Given the description of an element on the screen output the (x, y) to click on. 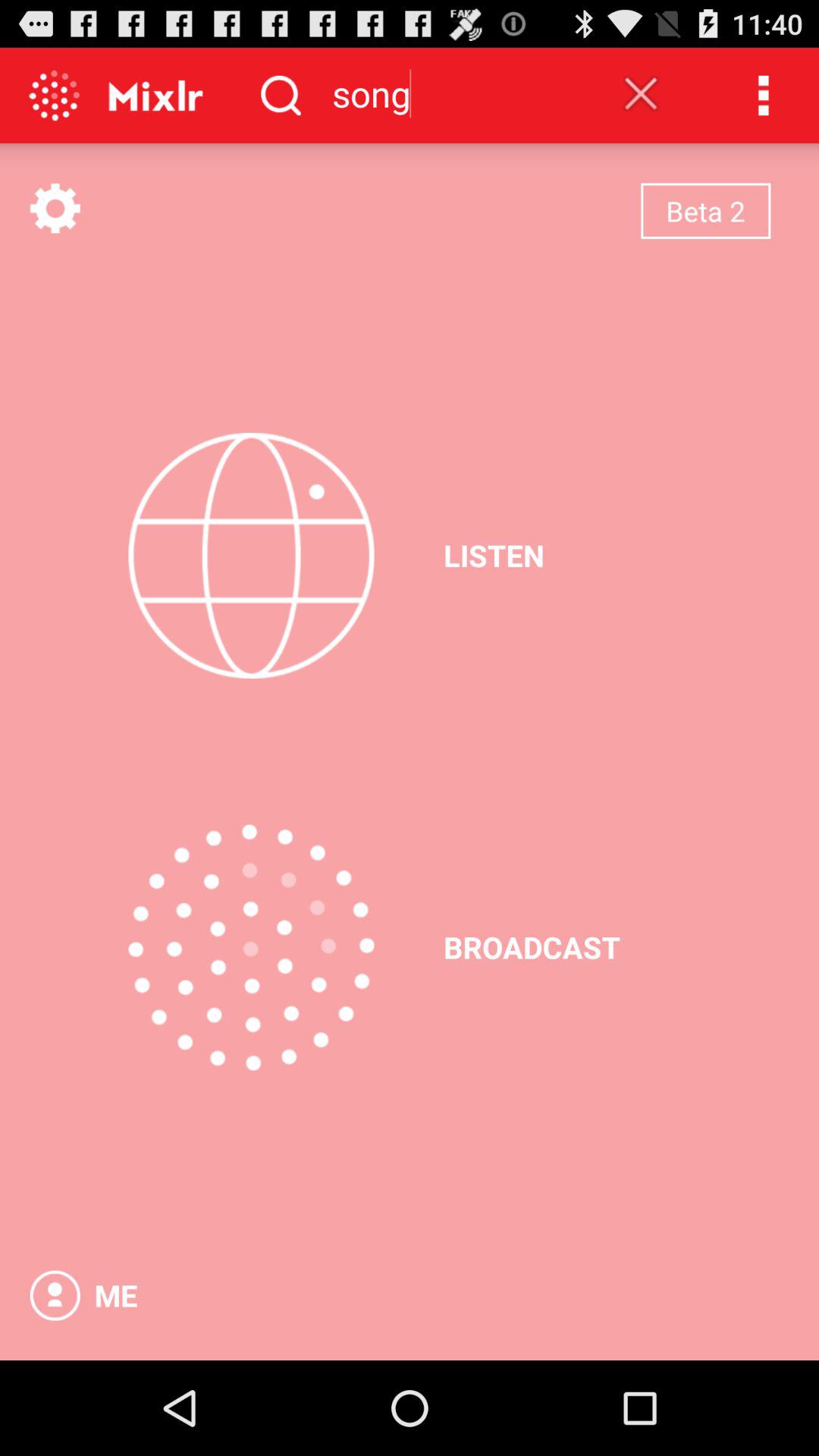
open profile option (55, 1295)
